Given the description of an element on the screen output the (x, y) to click on. 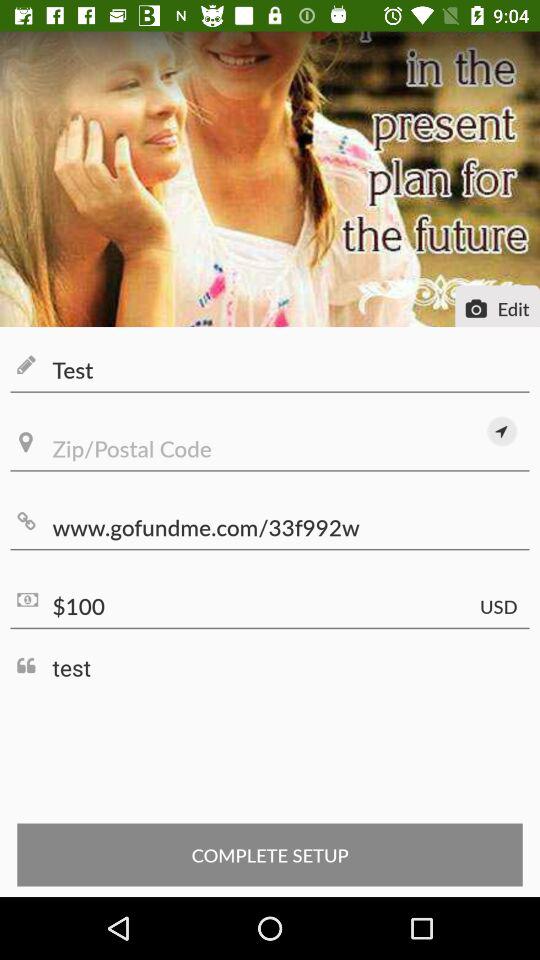
press the icon below the test item (269, 448)
